Given the description of an element on the screen output the (x, y) to click on. 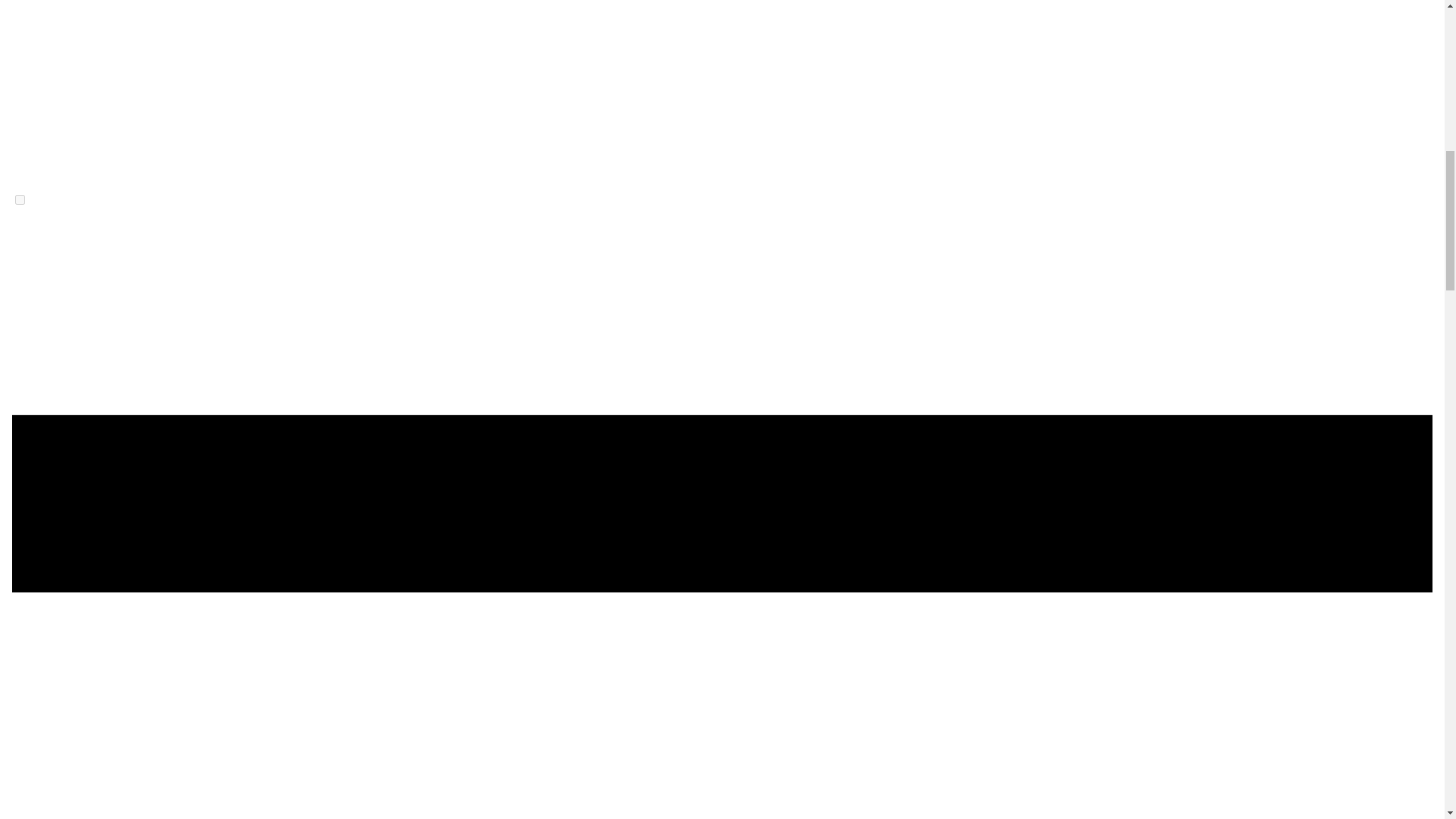
on (19, 199)
